Given the description of an element on the screen output the (x, y) to click on. 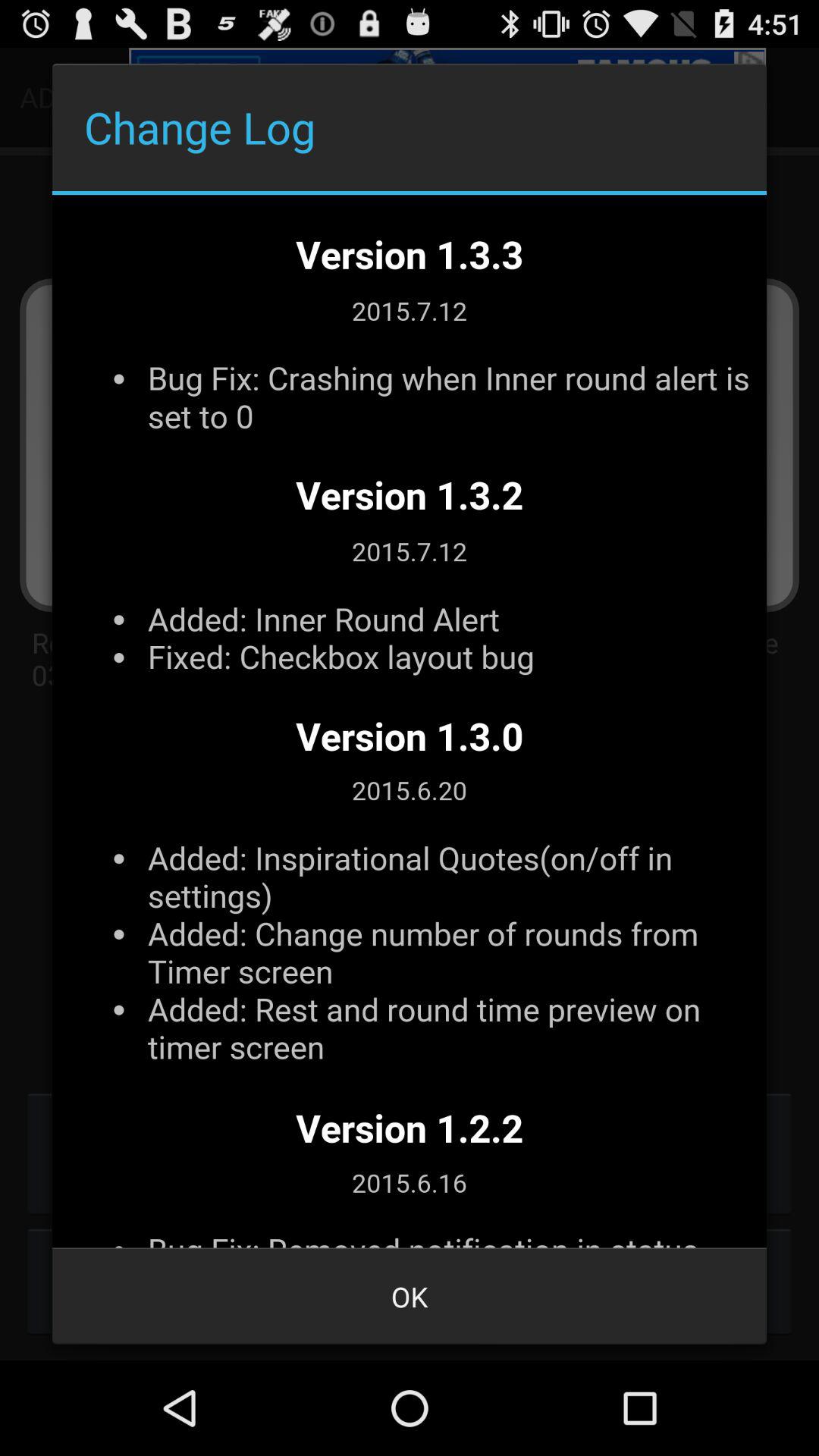
advertisement page (409, 721)
